Given the description of an element on the screen output the (x, y) to click on. 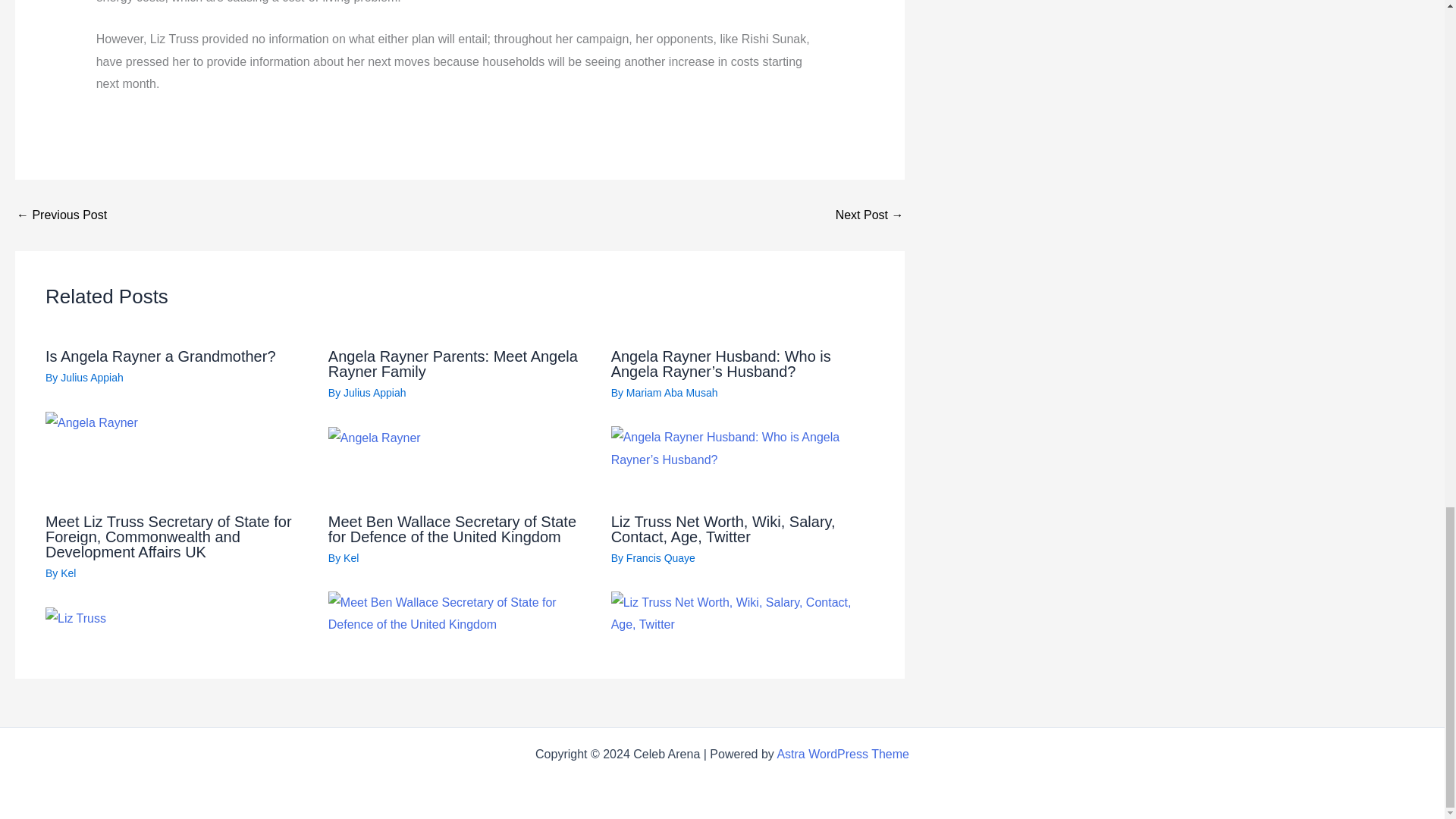
Liz Truss Family, Parents, Husband, Children, Siblings (869, 215)
View all posts by Julius Appiah (374, 392)
View all posts by Francis Quaye (660, 558)
View all posts by Julius Appiah (92, 377)
View all posts by Kel (350, 558)
View all posts by Kel (68, 573)
View all posts by Mariam Aba Musah (671, 392)
Liz Truss Ethnicity: What Nationality is Liz Truss? (61, 215)
